Given the description of an element on the screen output the (x, y) to click on. 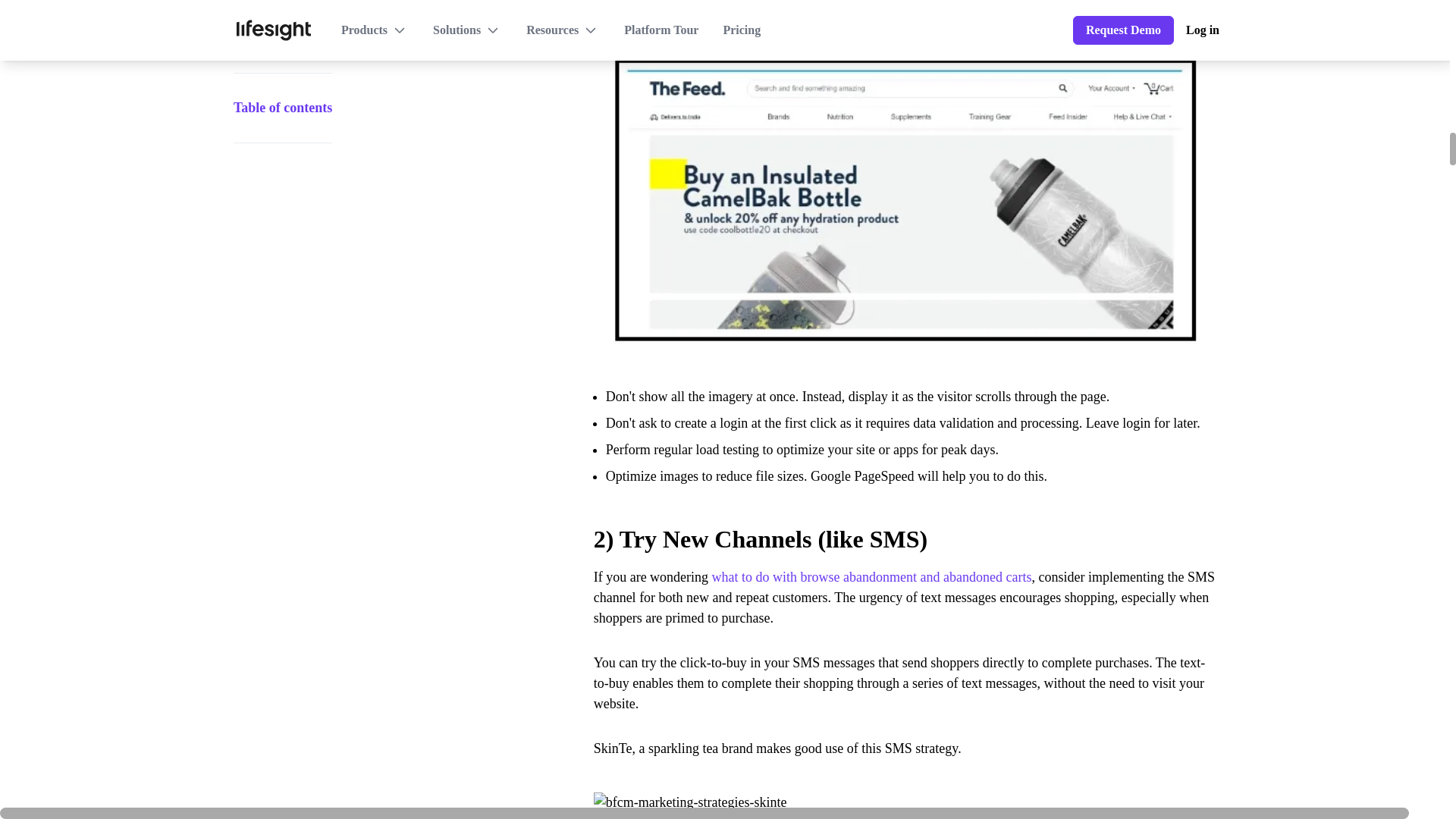
what to do with browse abandonment and abandoned carts (871, 576)
